Given the description of an element on the screen output the (x, y) to click on. 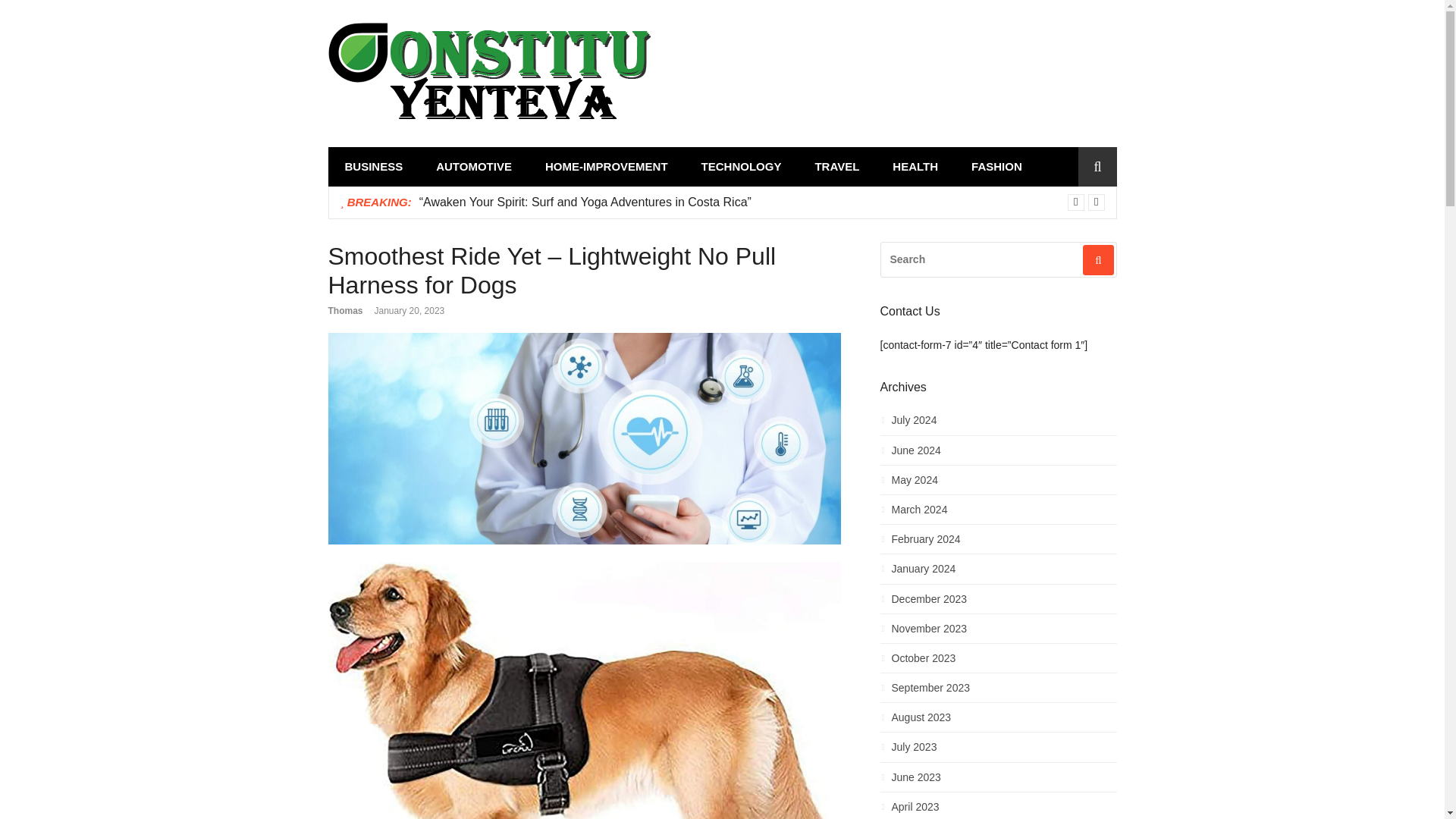
HEALTH (915, 167)
December 2023 (997, 602)
January 2024 (997, 572)
TECHNOLOGY (740, 167)
July 2024 (997, 423)
September 2023 (997, 691)
TRAVEL (836, 167)
FASHION (997, 167)
AUTOMOTIVE (473, 167)
HOME-IMPROVEMENT (606, 167)
